Given the description of an element on the screen output the (x, y) to click on. 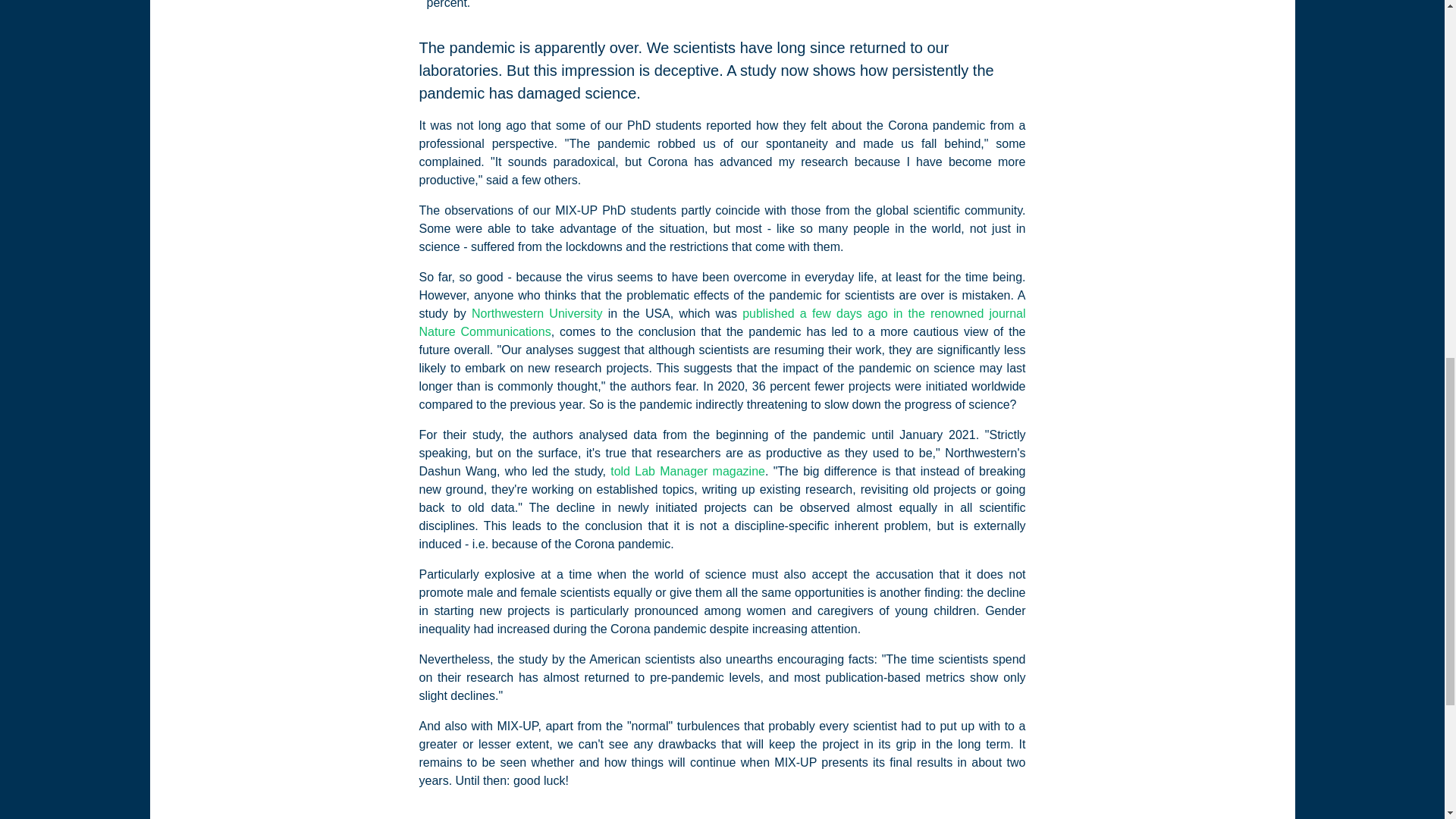
Northwestern University (536, 312)
told Lab Manager magazine (687, 470)
